Given the description of an element on the screen output the (x, y) to click on. 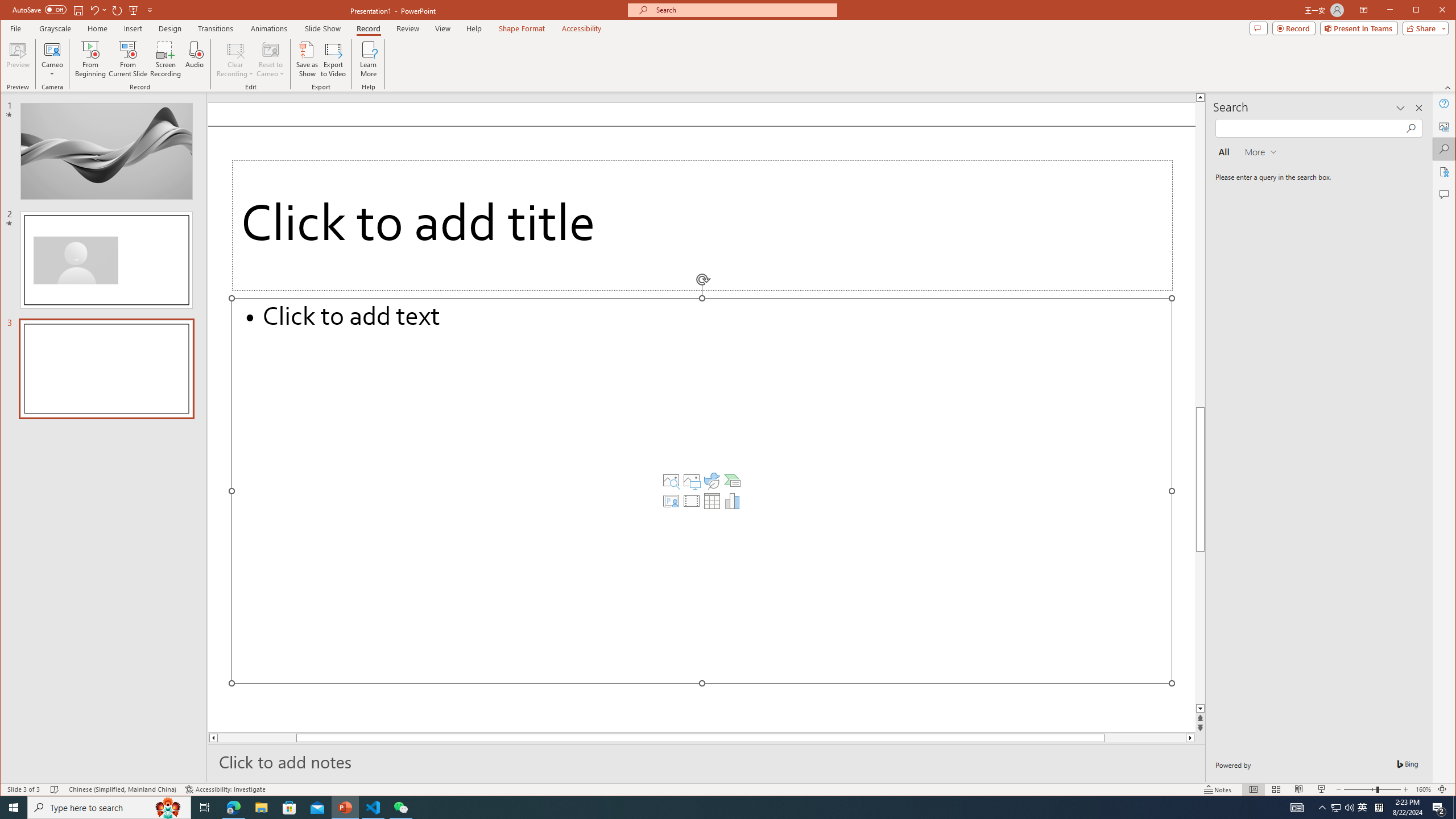
Learn More (368, 59)
WeChat - 1 running window (400, 807)
